Given the description of an element on the screen output the (x, y) to click on. 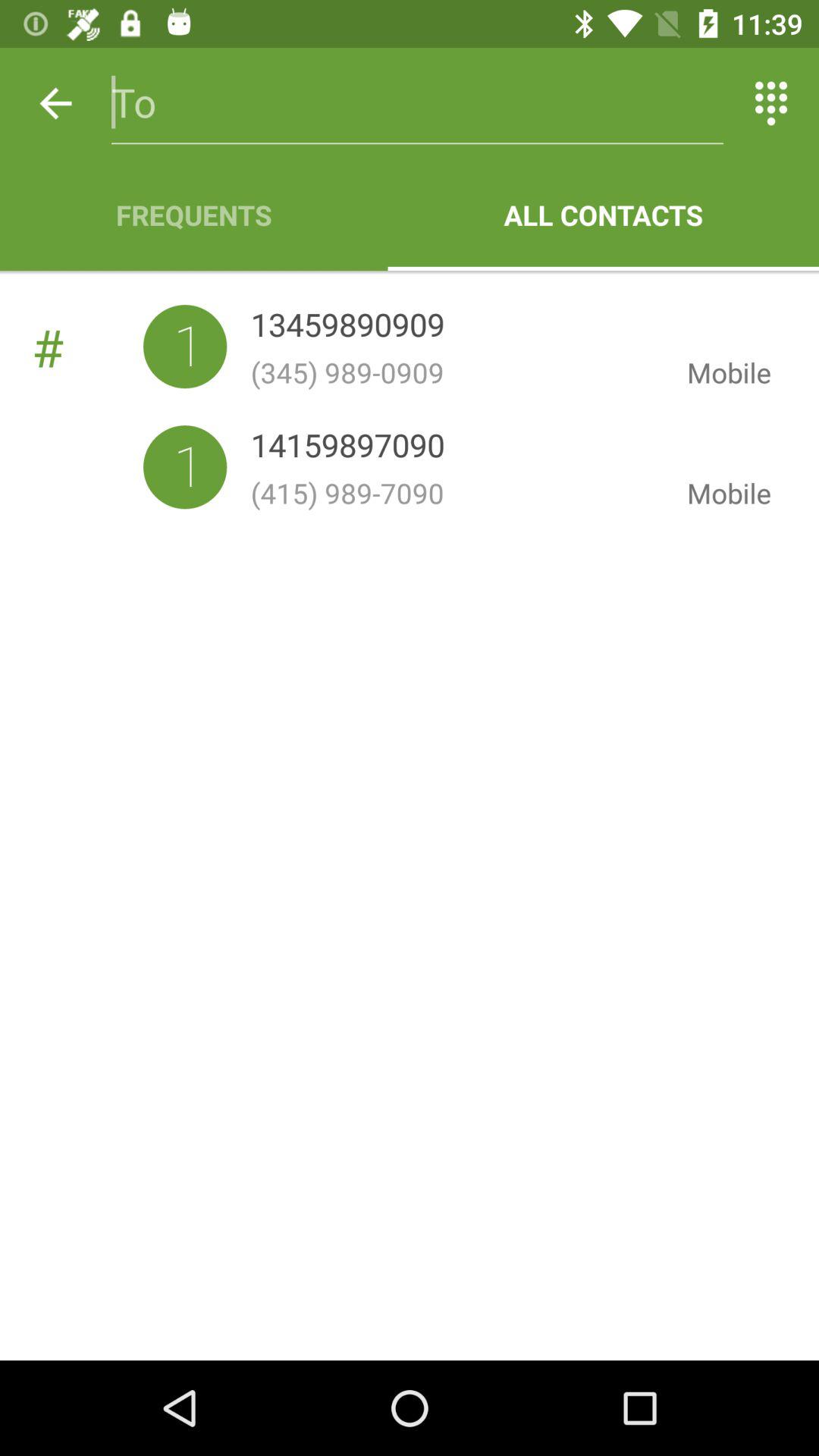
flip to the 14159897090 icon (347, 448)
